Given the description of an element on the screen output the (x, y) to click on. 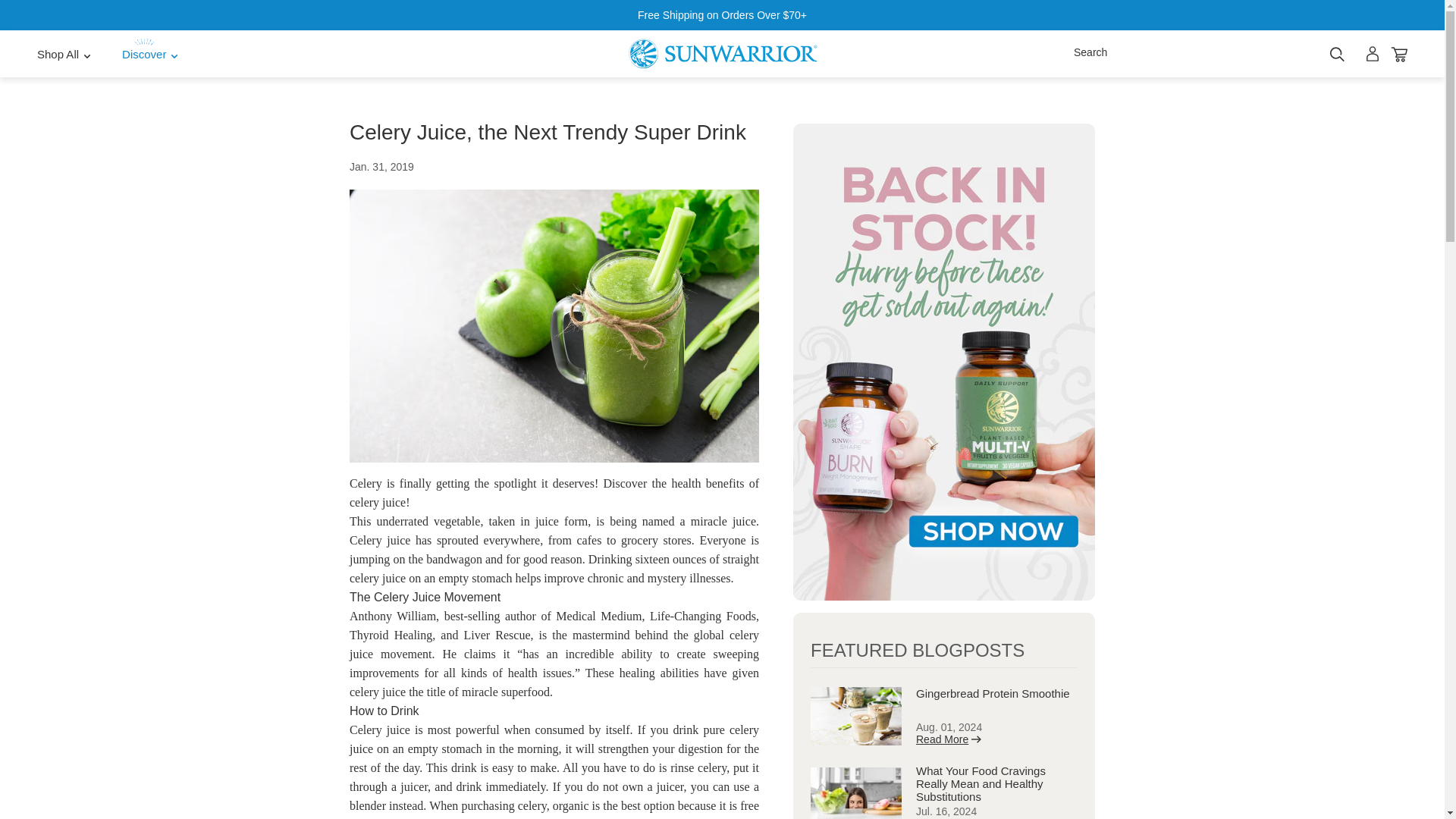
Shop All (63, 52)
